Given the description of an element on the screen output the (x, y) to click on. 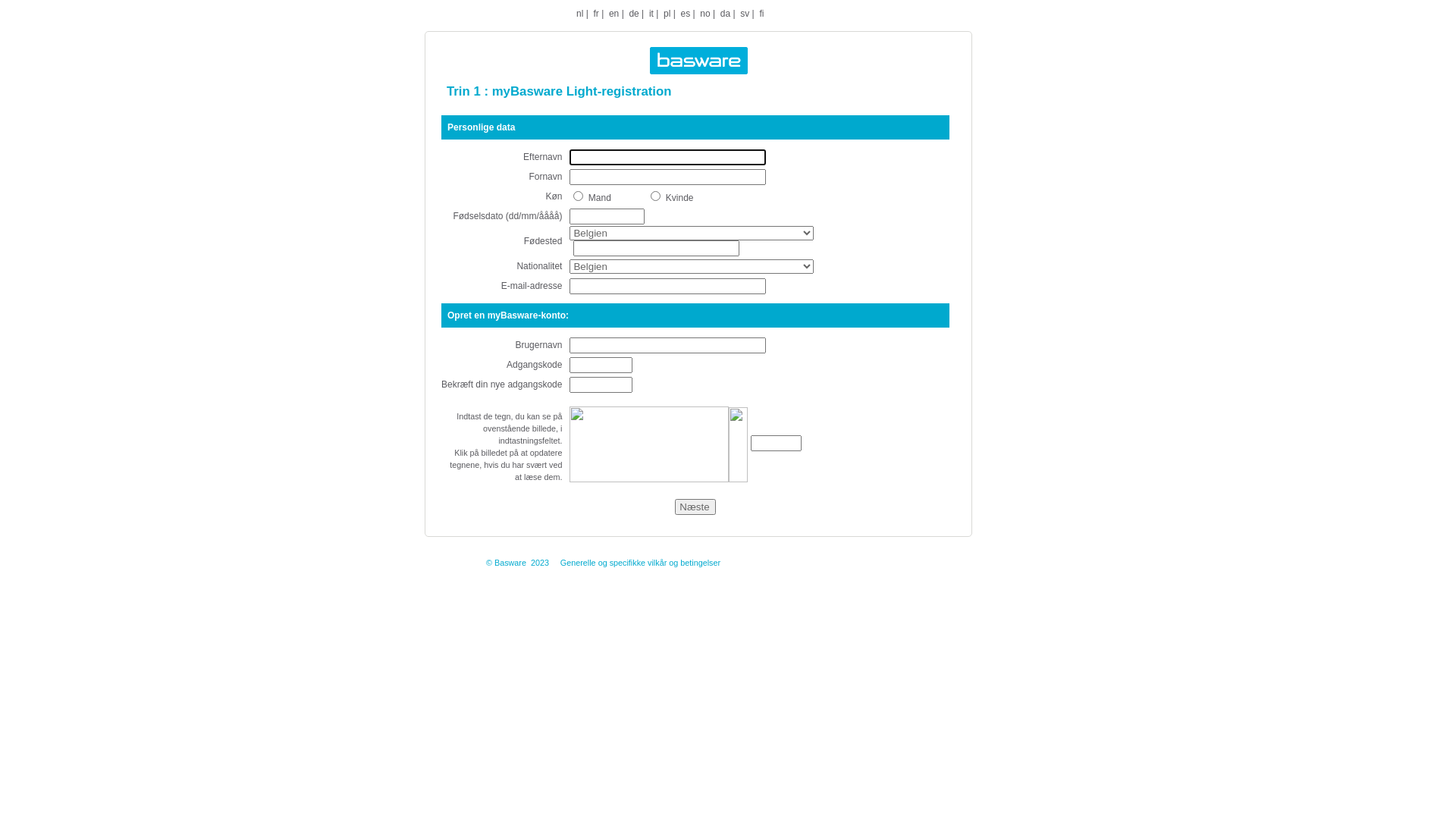
sv Element type: text (744, 13)
nl Element type: text (579, 13)
no Element type: text (704, 13)
de Element type: text (633, 13)
fi Element type: text (761, 13)
pl Element type: text (666, 13)
en Element type: text (613, 13)
fr Element type: text (595, 13)
es Element type: text (685, 13)
it Element type: text (651, 13)
da Element type: text (725, 13)
